Given the description of an element on the screen output the (x, y) to click on. 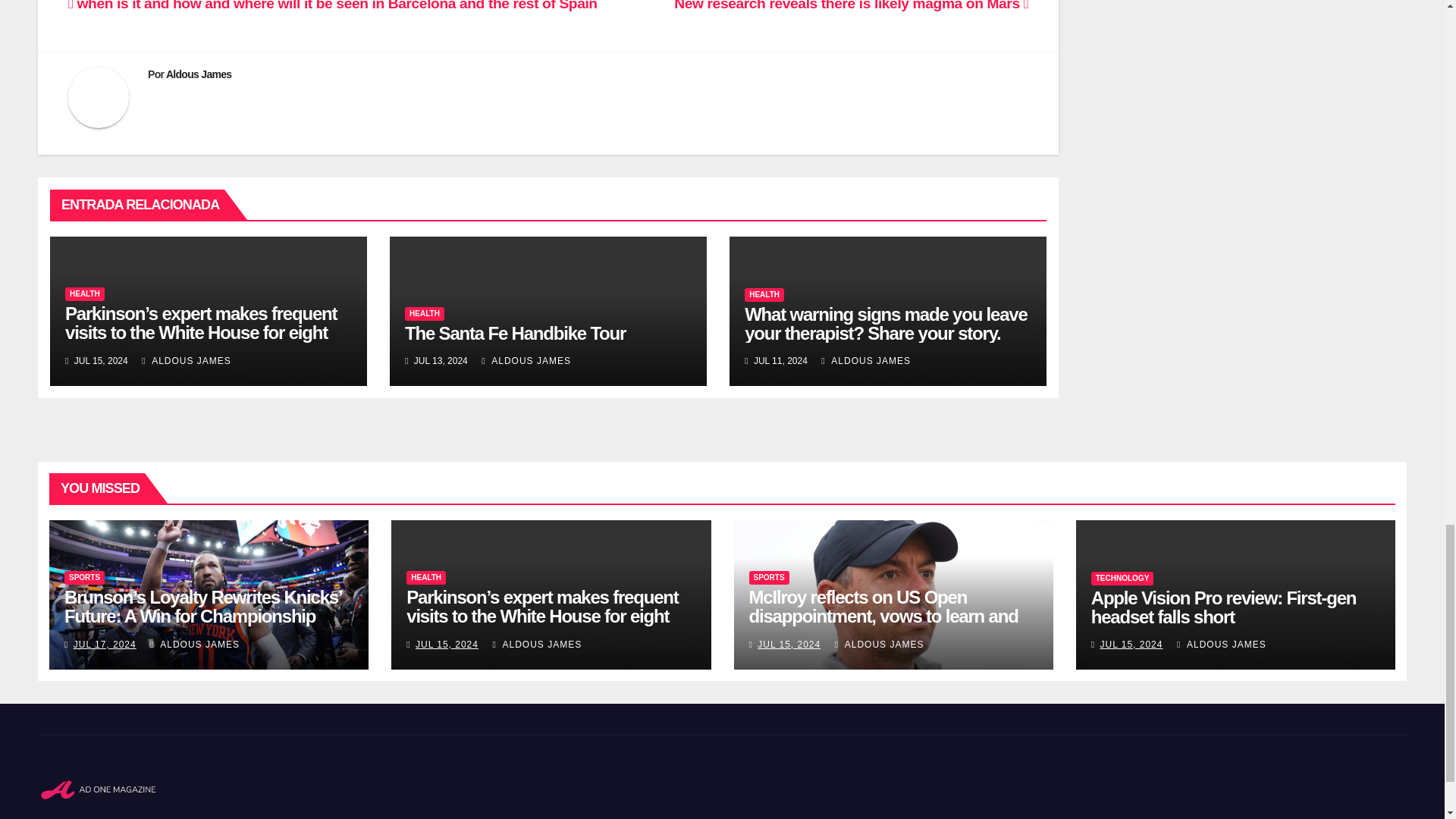
HEALTH (424, 314)
HEALTH (764, 295)
ALDOUS JAMES (186, 360)
Permalink to: The Santa Fe Handbike Tour (515, 332)
ALDOUS JAMES (525, 360)
New research reveals there is likely magma on Mars (850, 5)
ALDOUS JAMES (866, 360)
Aldous James (198, 73)
The Santa Fe Handbike Tour (515, 332)
HEALTH (84, 294)
